Given the description of an element on the screen output the (x, y) to click on. 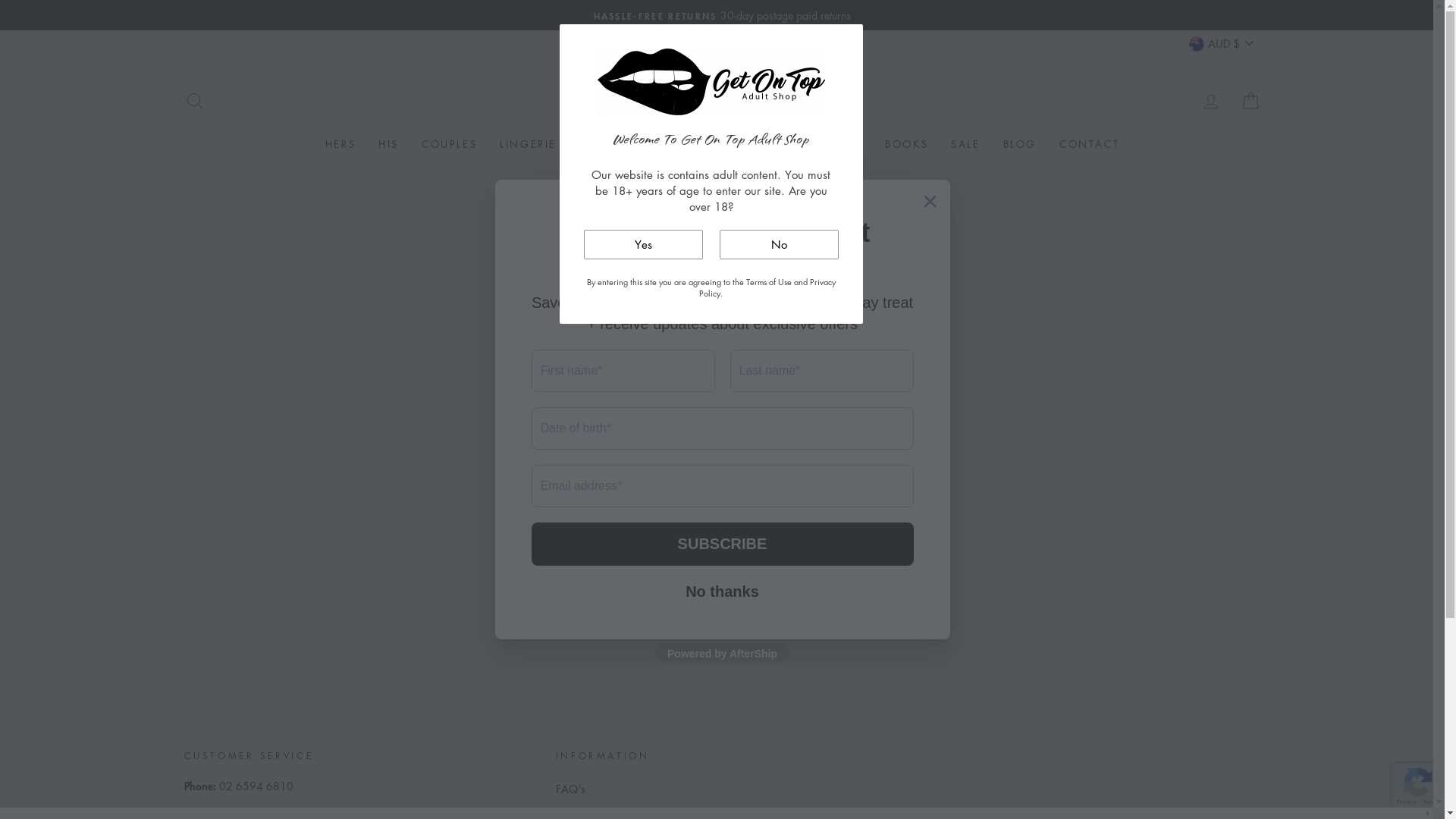
Continue shopping Element type: text (722, 360)
LINGERIE Element type: text (527, 143)
BLOG Element type: text (1019, 143)
HERS Element type: text (340, 143)
FETISH Element type: text (599, 143)
AUD $ Element type: text (1222, 42)
ALL ANDREW CHRISTIAN MENSWEAR MARKED DOWN TO $20 Element type: text (722, 14)
LOG IN Element type: text (1210, 100)
FAQ's Element type: text (570, 788)
No Element type: text (777, 244)
CONTACT Element type: text (1089, 143)
GIFTS Element type: text (755, 143)
Yes Element type: text (642, 244)
HIS Element type: text (388, 143)
COUPLES Element type: text (449, 143)
Skip to content Element type: text (0, 0)
CART Element type: text (1249, 100)
BOOKS Element type: text (906, 143)
SALE Element type: text (965, 143)
ESSENTIALS Element type: text (678, 143)
NOVELTIES Element type: text (828, 143)
SEARCH Element type: text (193, 100)
